Given the description of an element on the screen output the (x, y) to click on. 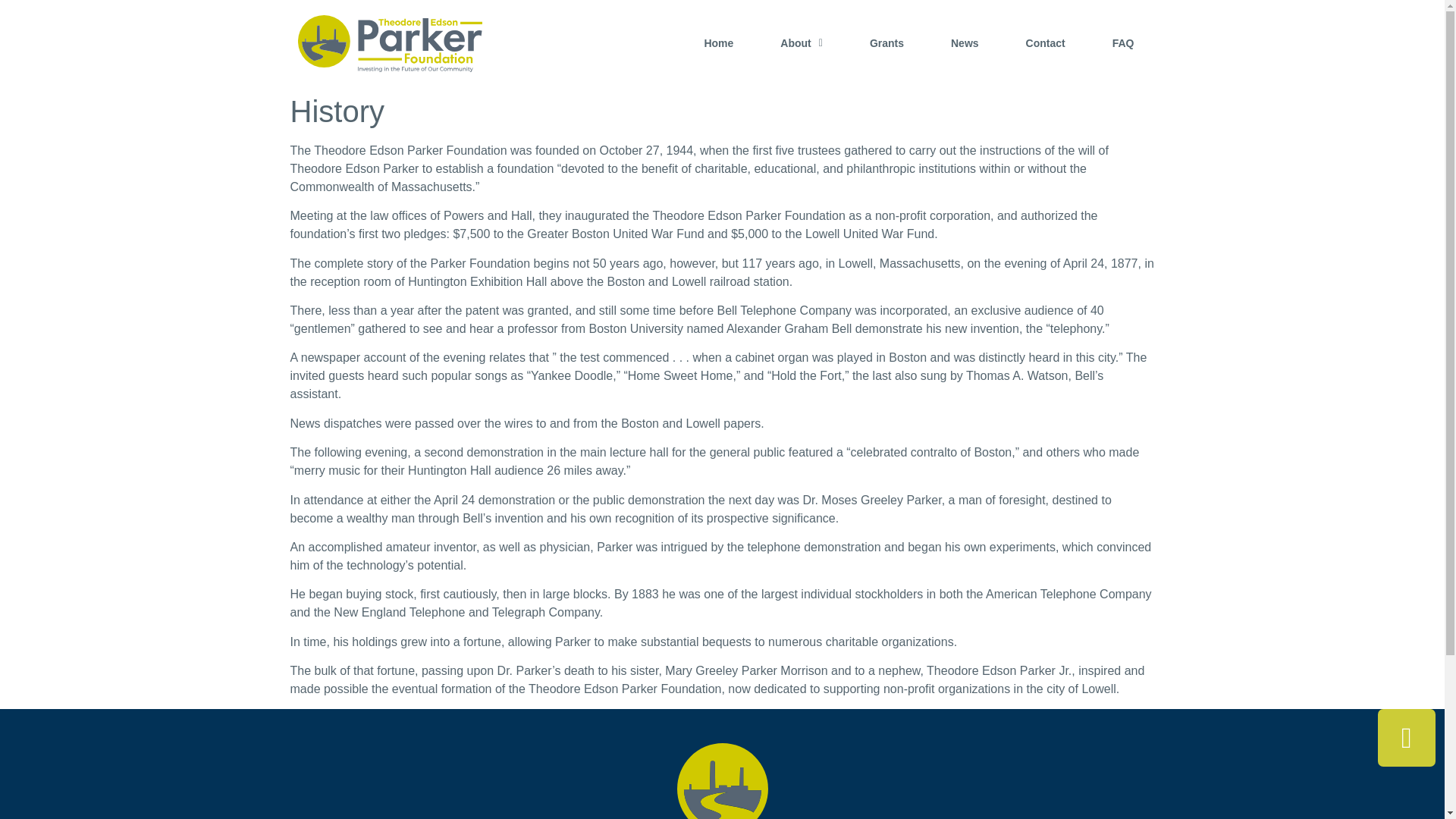
Contact (1045, 61)
FAQ (1123, 60)
Grants (887, 63)
About (801, 65)
Home (717, 66)
News (964, 62)
